Given the description of an element on the screen output the (x, y) to click on. 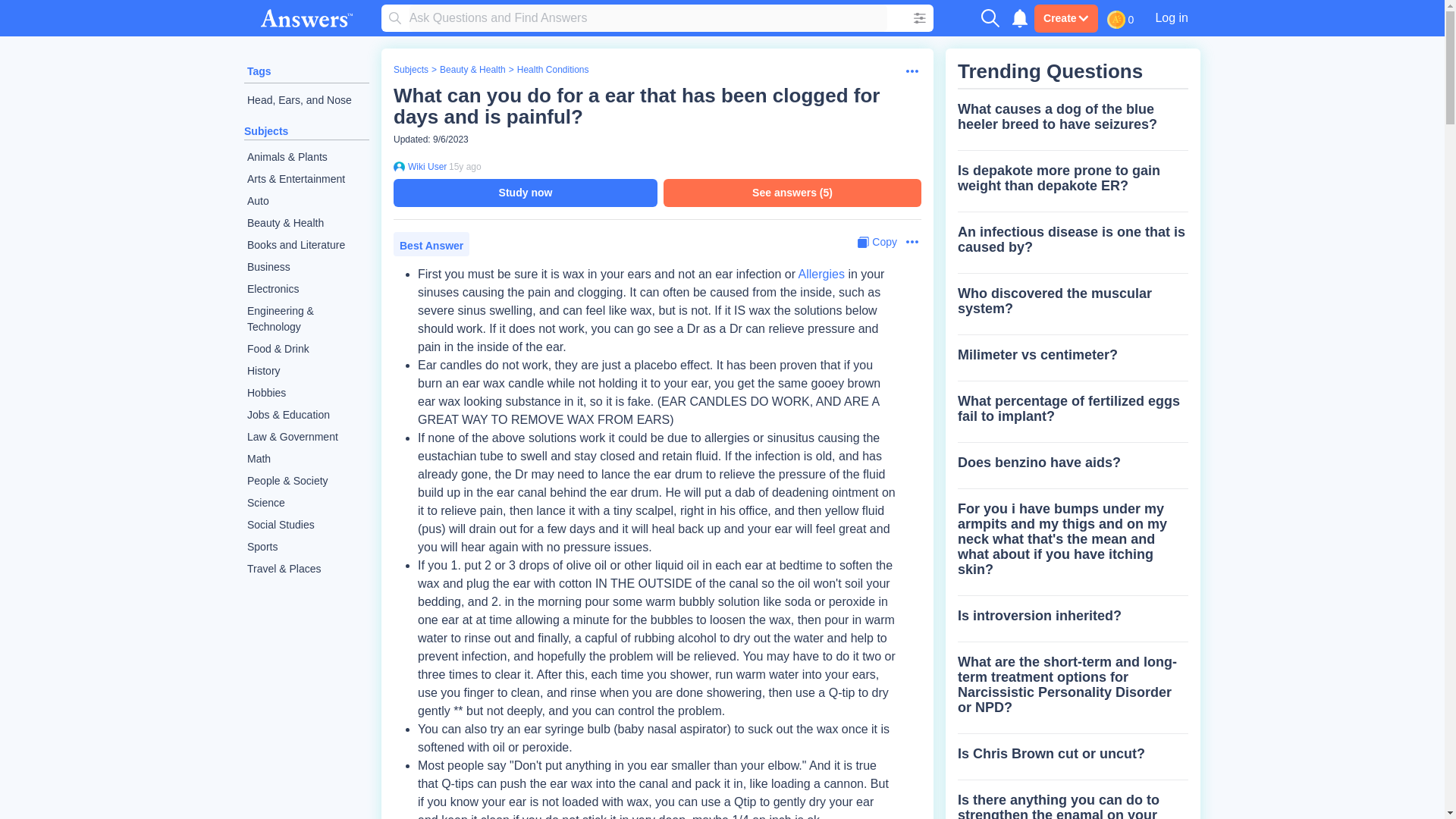
Business (306, 267)
Electronics (306, 289)
Allergies (820, 273)
Tags (258, 70)
Subjects (410, 69)
Auto (306, 201)
Health Conditions (552, 69)
Science (306, 503)
2009-08-07 02:04:47 (464, 166)
Books and Literature (306, 245)
